Given the description of an element on the screen output the (x, y) to click on. 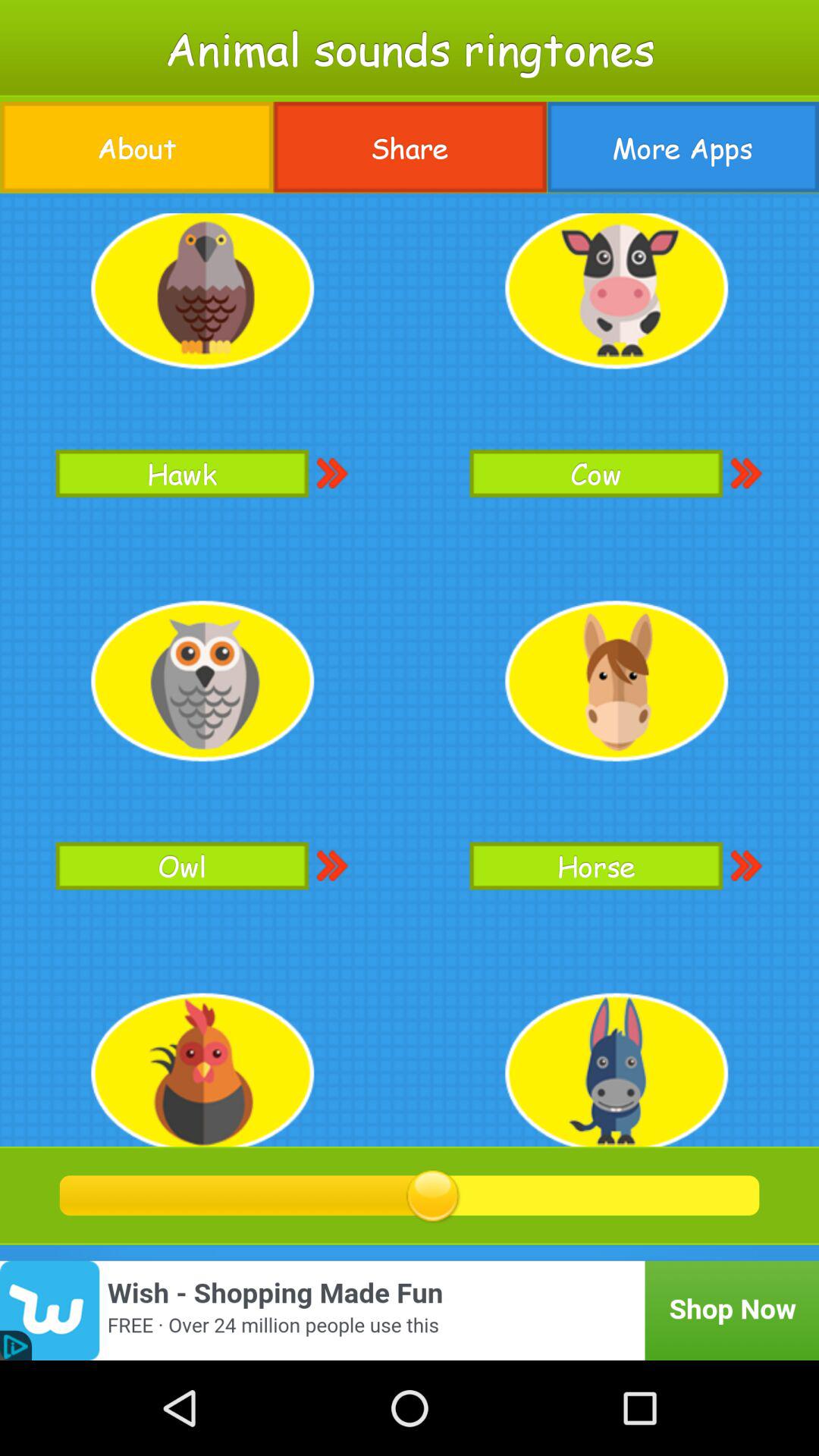
jump until the about button (136, 147)
